Given the description of an element on the screen output the (x, y) to click on. 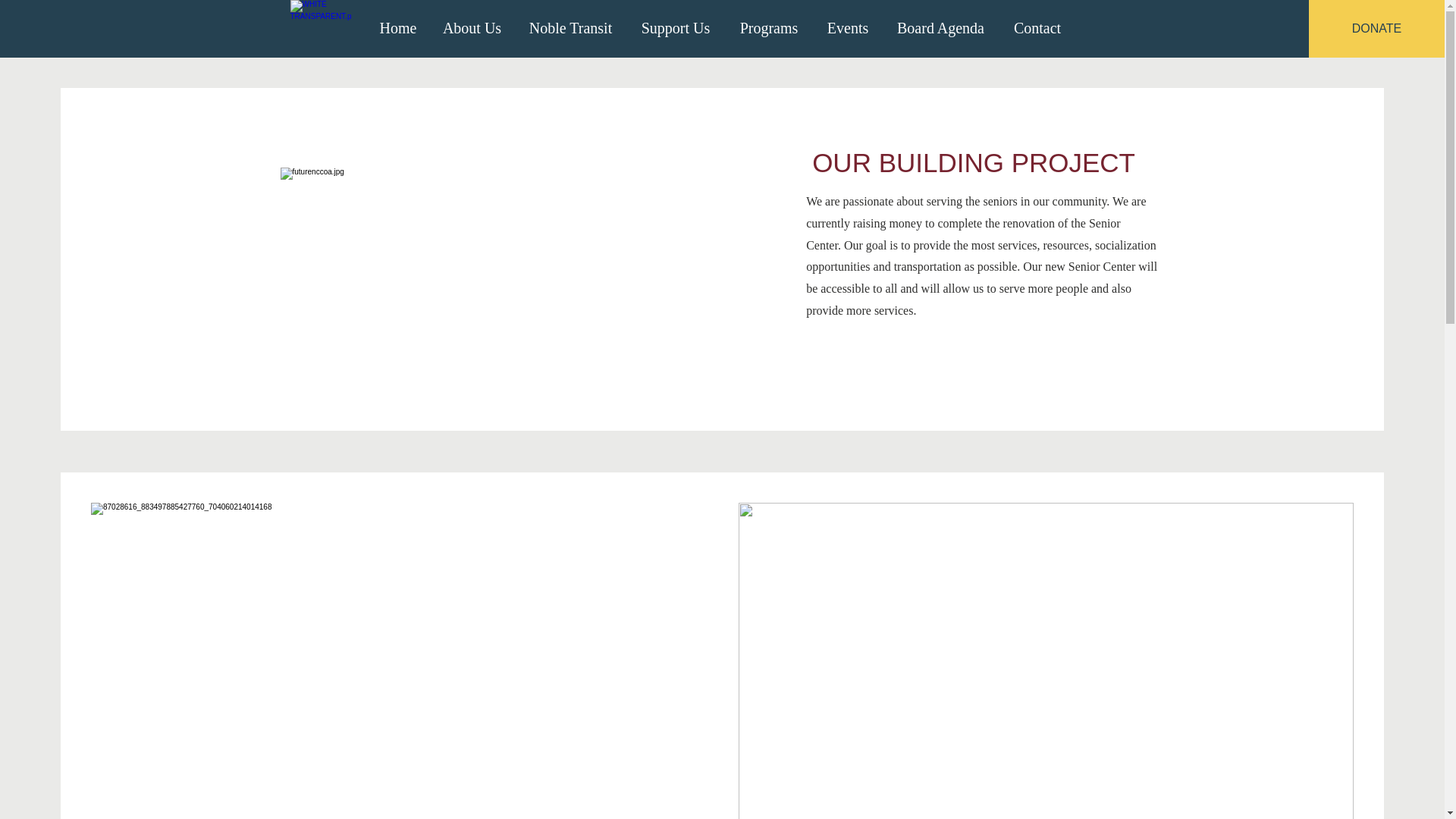
Events (847, 27)
Contact (1036, 27)
Noble Transit (570, 27)
Board Agenda (940, 27)
Support Us (675, 27)
About Us (471, 27)
Home (397, 27)
Programs (768, 27)
